Given the description of an element on the screen output the (x, y) to click on. 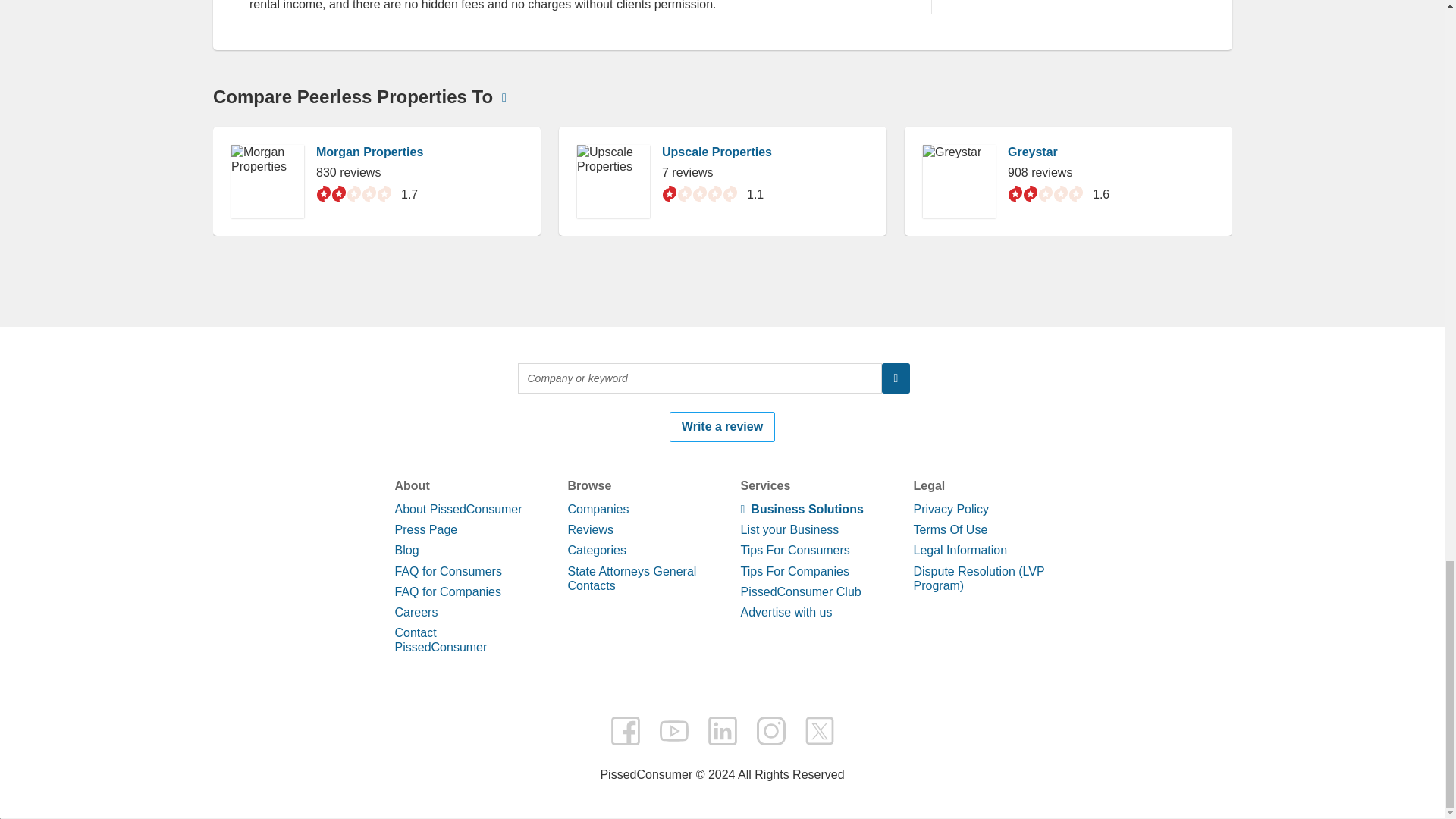
Careers (416, 612)
Advertise with us (785, 612)
Write a review (721, 426)
About PissedConsumer (457, 508)
Tips For Companies (793, 570)
Tips For Consumers (793, 549)
State Attorneys General Contacts (631, 577)
Privacy Policy (950, 508)
Upscale Properties (716, 151)
FAQ for Consumers (447, 570)
